Given the description of an element on the screen output the (x, y) to click on. 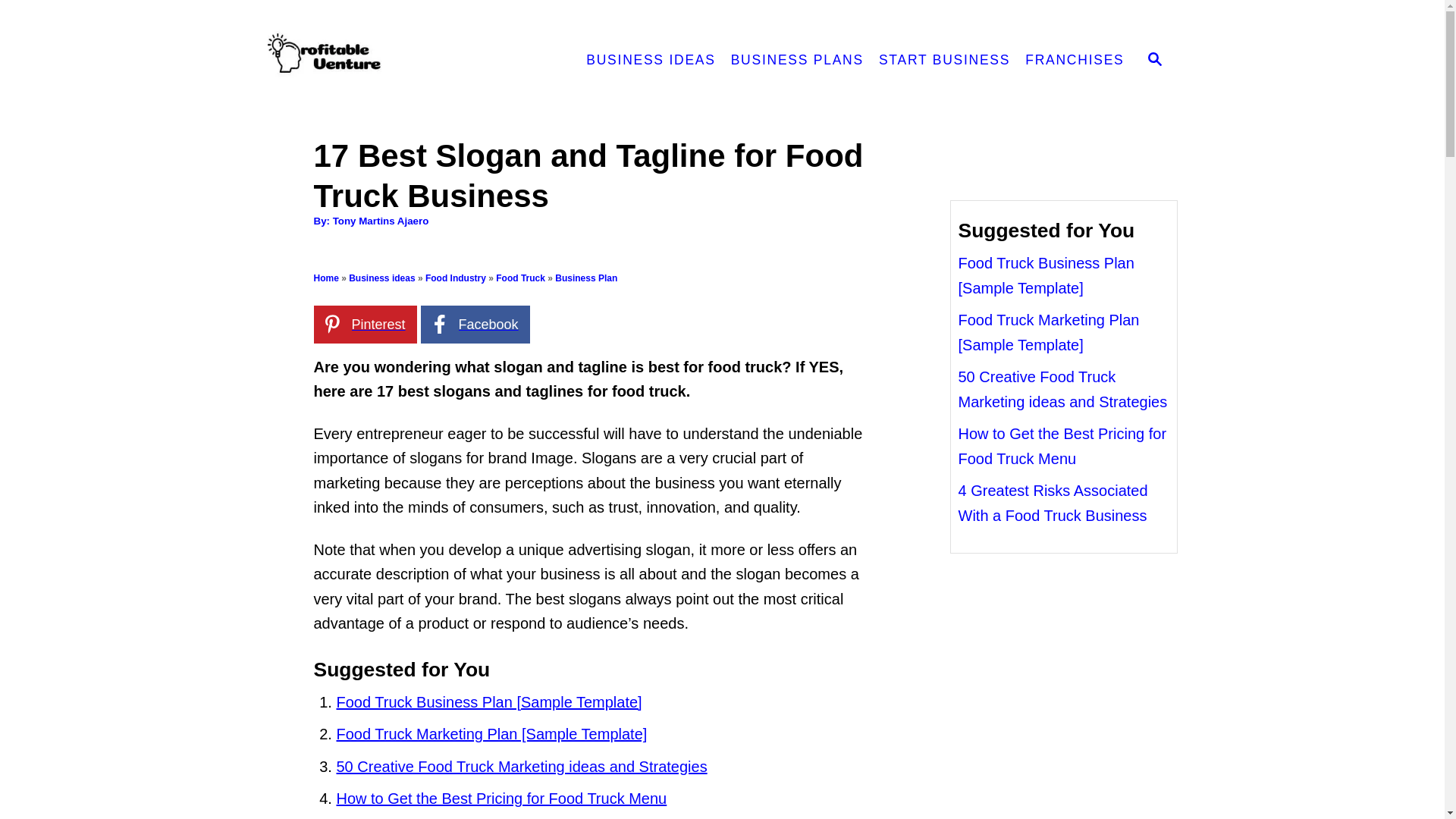
Food Truck (520, 277)
Pinterest (365, 324)
50 Creative Food Truck Marketing ideas and Strategies (521, 766)
50 Creative Food Truck Marketing ideas and Strategies (521, 766)
ProfitableVenture (400, 60)
Business ideas (381, 277)
How to Get the Best Pricing for Food Truck Menu (501, 798)
50 Creative Food Truck Marketing ideas and Strategies (1062, 389)
4 Greatest Risks Associated With a Food Truck Business (1053, 503)
SEARCH (1154, 60)
